Given the description of an element on the screen output the (x, y) to click on. 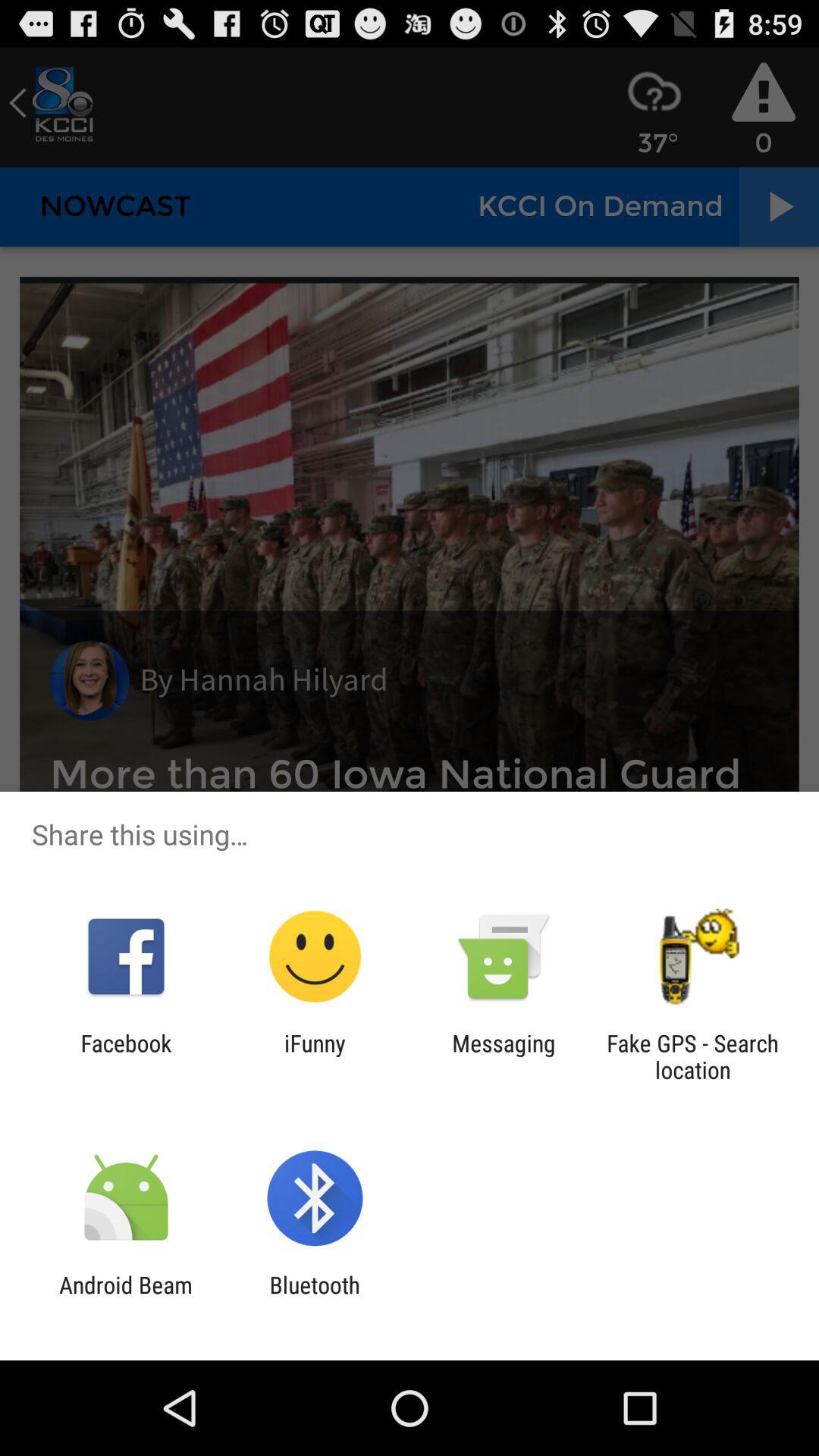
turn off facebook (125, 1056)
